Given the description of an element on the screen output the (x, y) to click on. 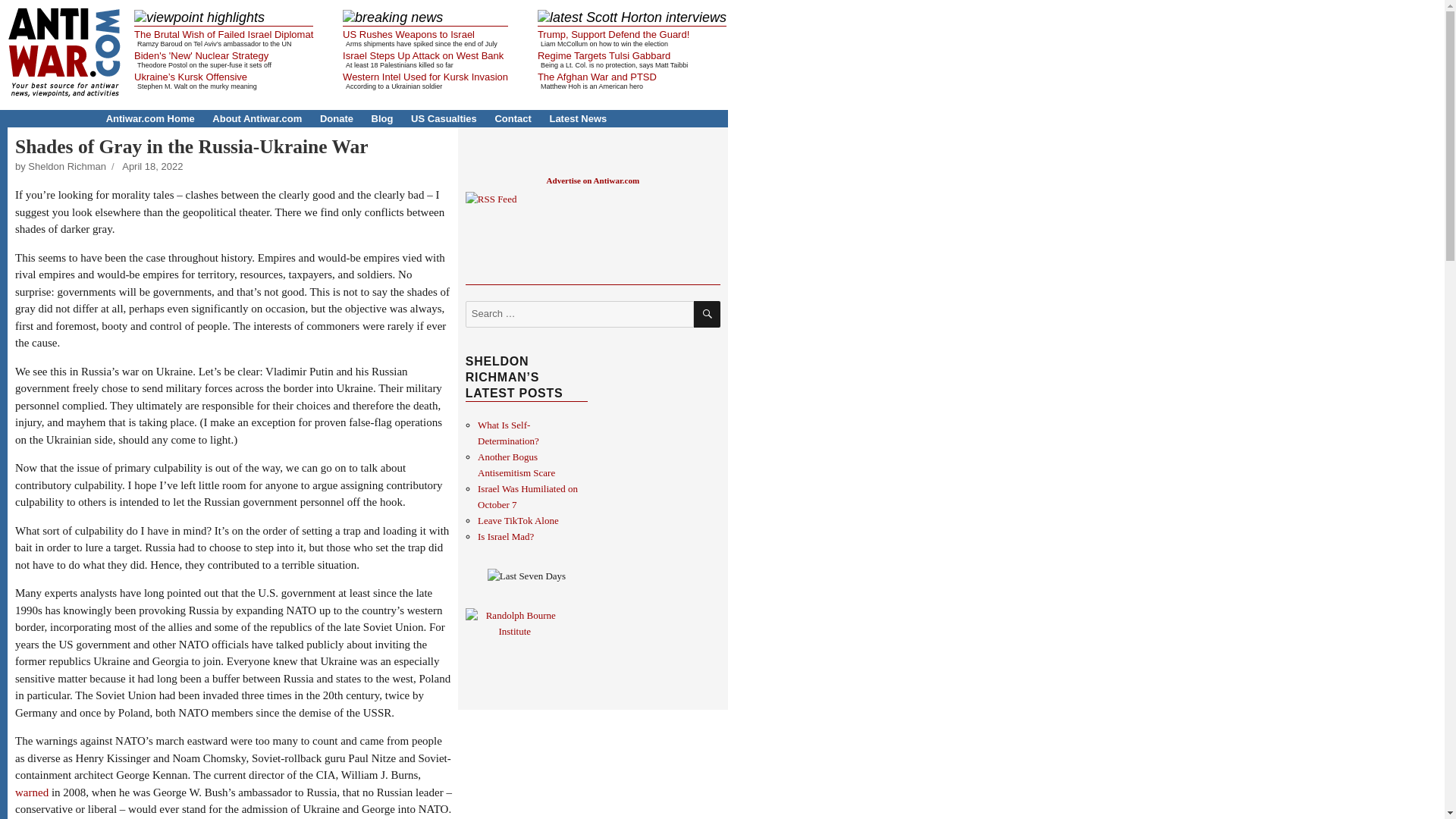
Contact (513, 118)
Latest News (577, 118)
warned (31, 792)
Israel Steps Up Attack on West Bank (422, 55)
Antiwar.com Home (150, 118)
Donate (336, 118)
April 18, 2022 (152, 165)
What Is Self-Determination? (507, 432)
Trump, Support Defend the Guard! (612, 34)
The Afghan War and PTSD (596, 76)
